Given the description of an element on the screen output the (x, y) to click on. 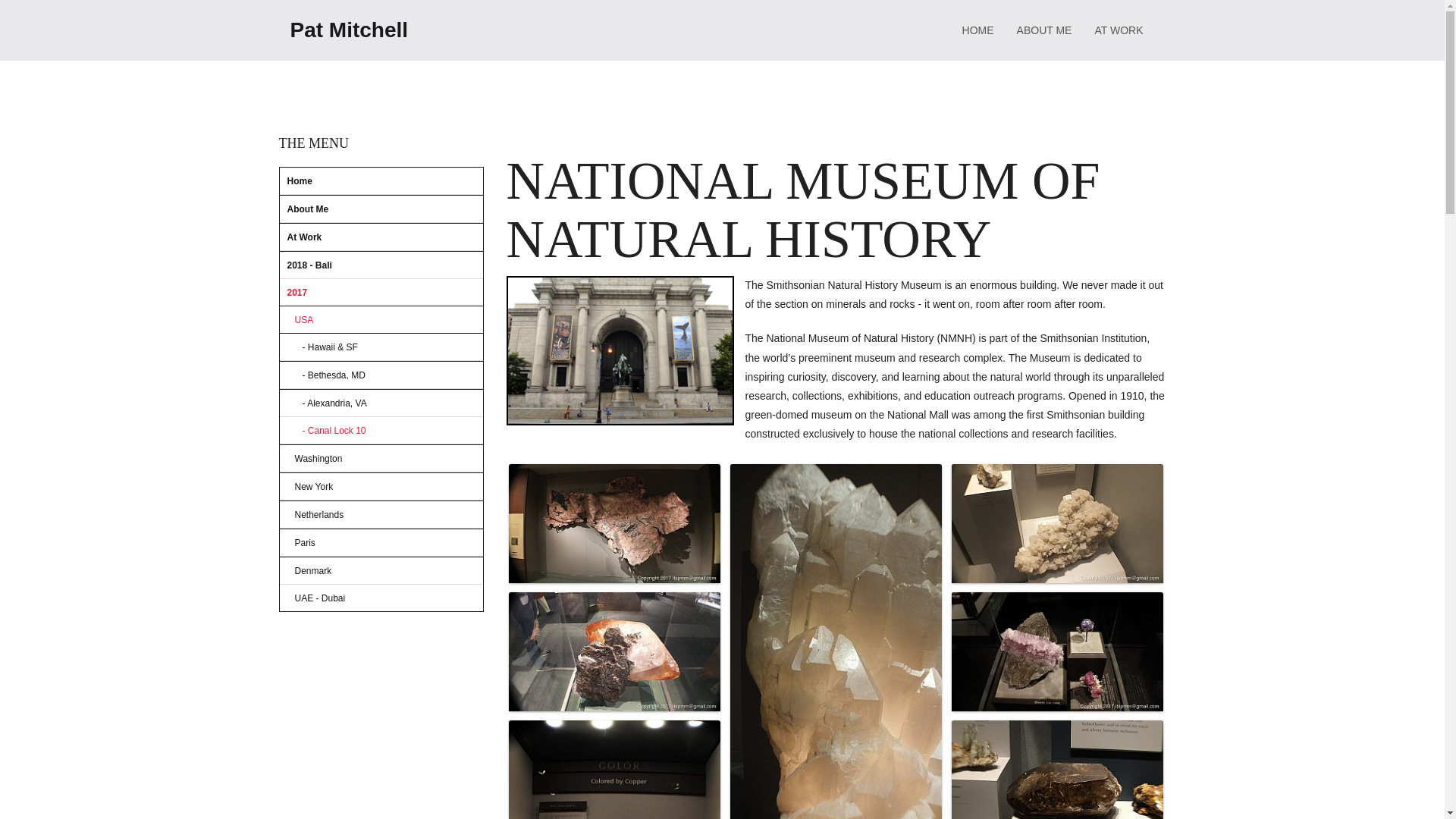
ABOUT ME (1044, 30)
Pat Mitchell (348, 29)
HOME (978, 30)
Pat Mitchell (348, 29)
AT WORK (1118, 30)
